Given the description of an element on the screen output the (x, y) to click on. 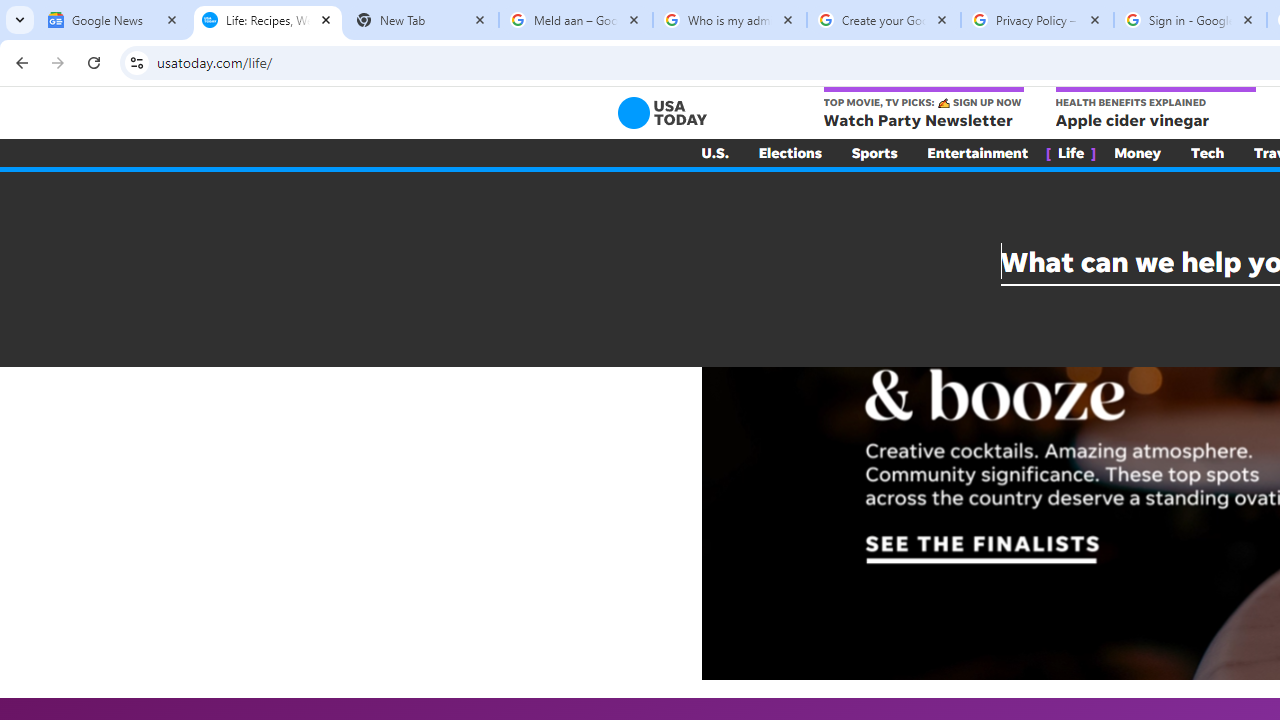
New Tab (421, 20)
Money (1137, 152)
Sign in - Google Accounts (1190, 20)
Life: Recipes, Wellness & Horoscopes - USA TODAY (267, 20)
U.S. (714, 152)
Elections (789, 152)
Entertainment (977, 152)
Tech (1207, 152)
[ Life ] (1071, 152)
Google News (113, 20)
USA TODAY (661, 112)
Sports (873, 152)
